Given the description of an element on the screen output the (x, y) to click on. 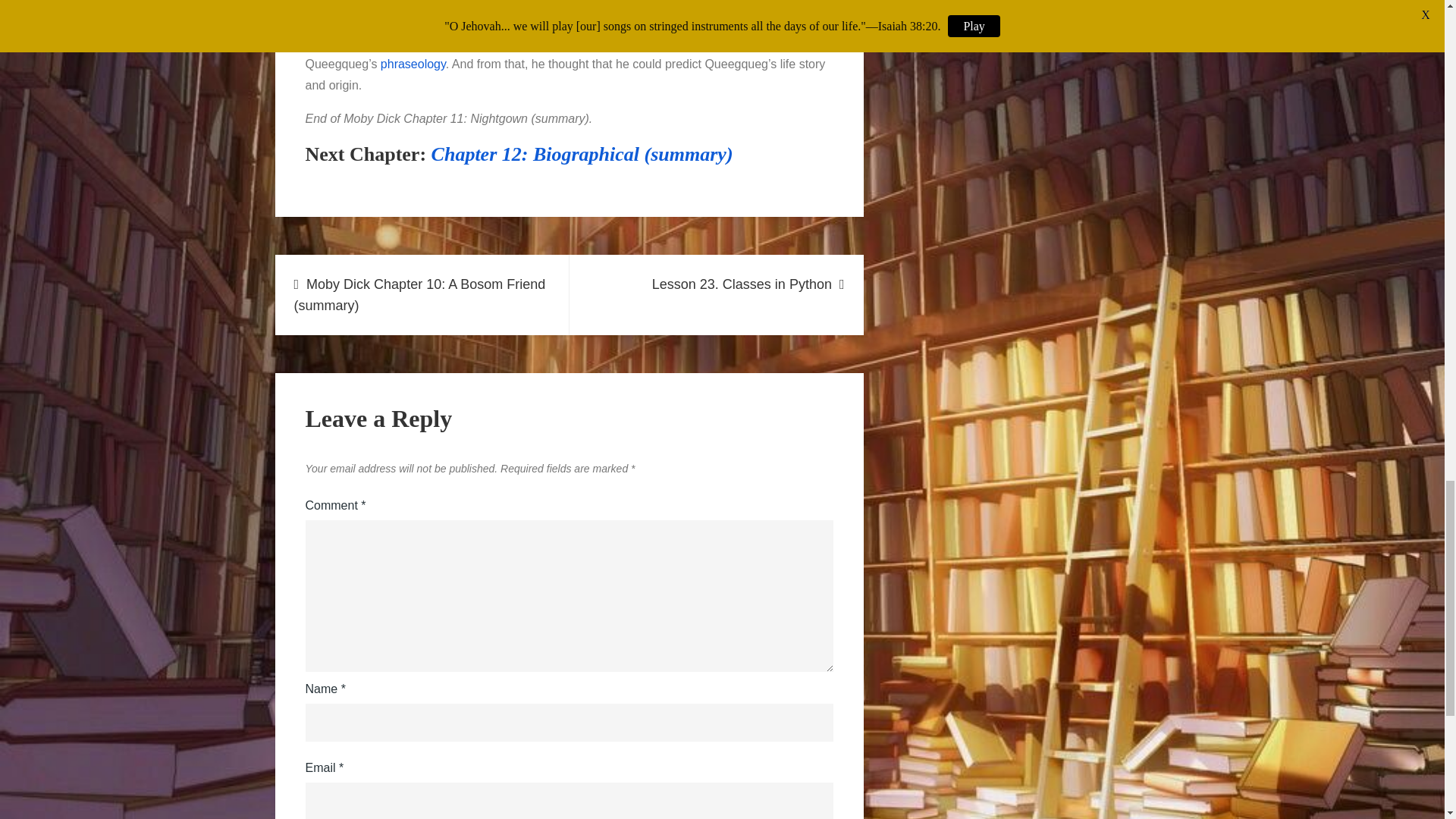
phraseology (412, 63)
Lesson 23. Classes in Python (716, 294)
